Given the description of an element on the screen output the (x, y) to click on. 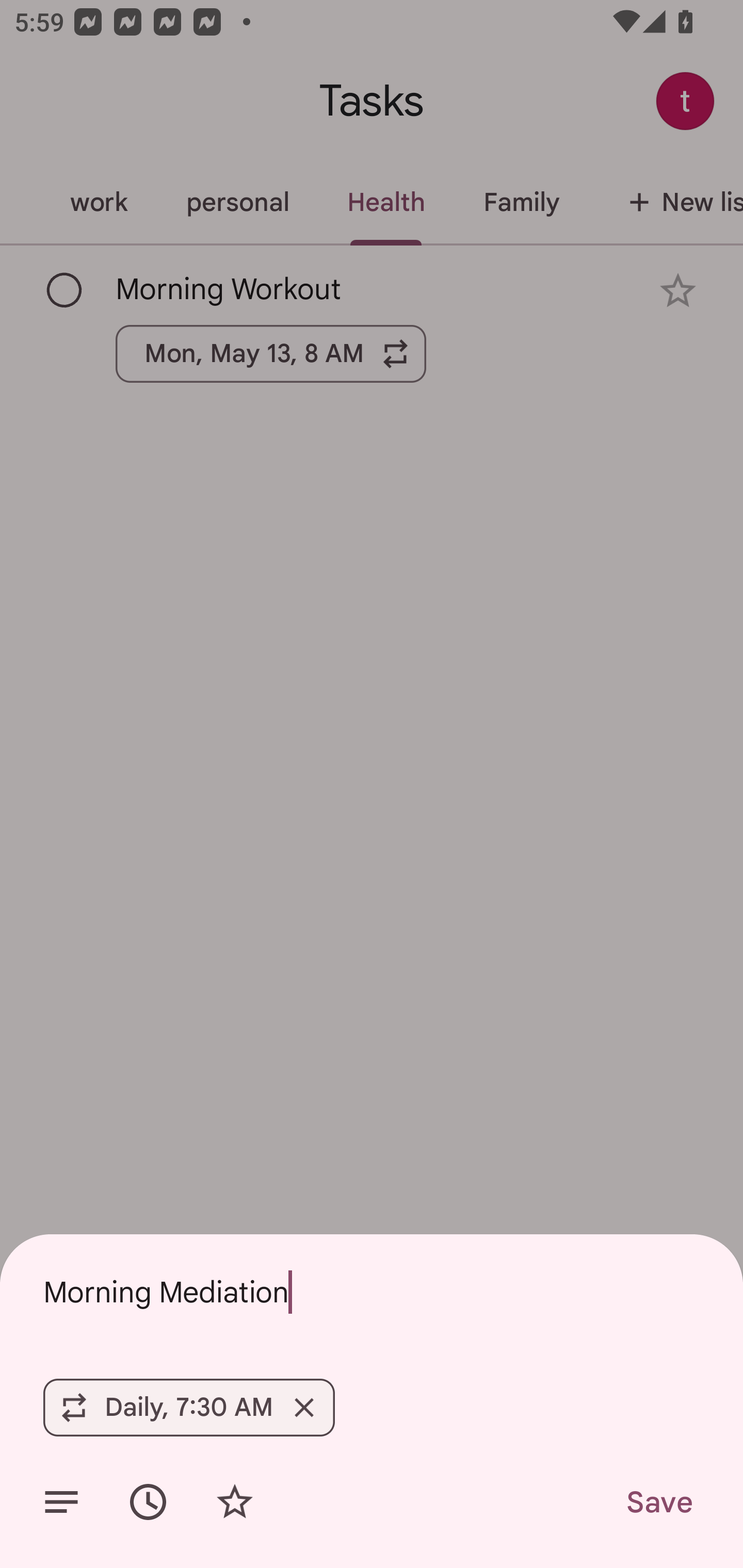
Morning Mediation (371, 1291)
Daily, 7:30 AM Remove Daily, 7:30 AM (189, 1407)
Save (659, 1501)
Add details (60, 1501)
Set date/time (147, 1501)
Add star (234, 1501)
